Given the description of an element on the screen output the (x, y) to click on. 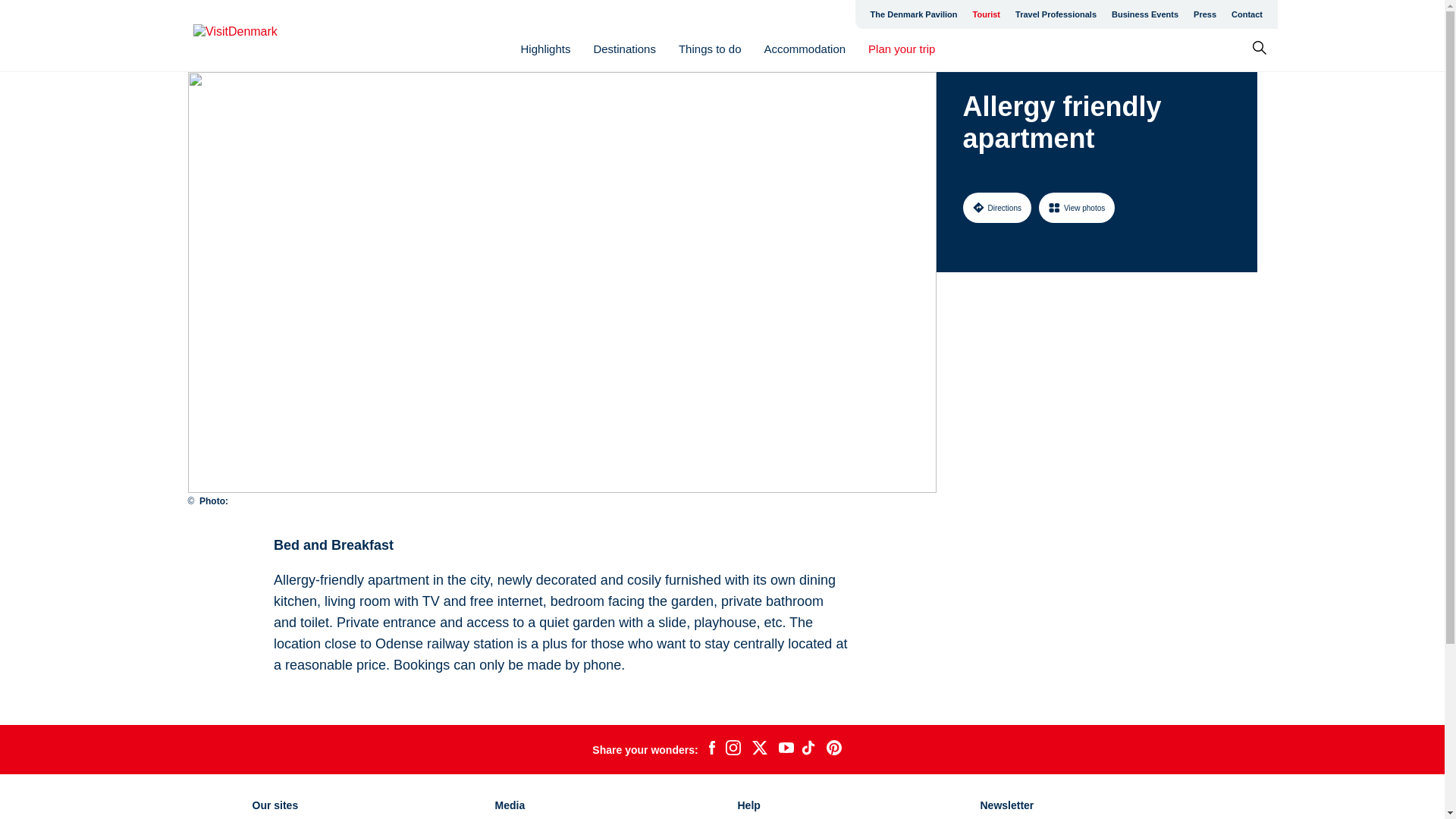
Tourist (986, 14)
Destinations (624, 48)
pinterest (834, 750)
Highlights (545, 48)
Things to do (709, 48)
instagram (732, 750)
Plan your trip (900, 48)
Business Events (1144, 14)
Accommodation (804, 48)
tiktok (810, 750)
